Given the description of an element on the screen output the (x, y) to click on. 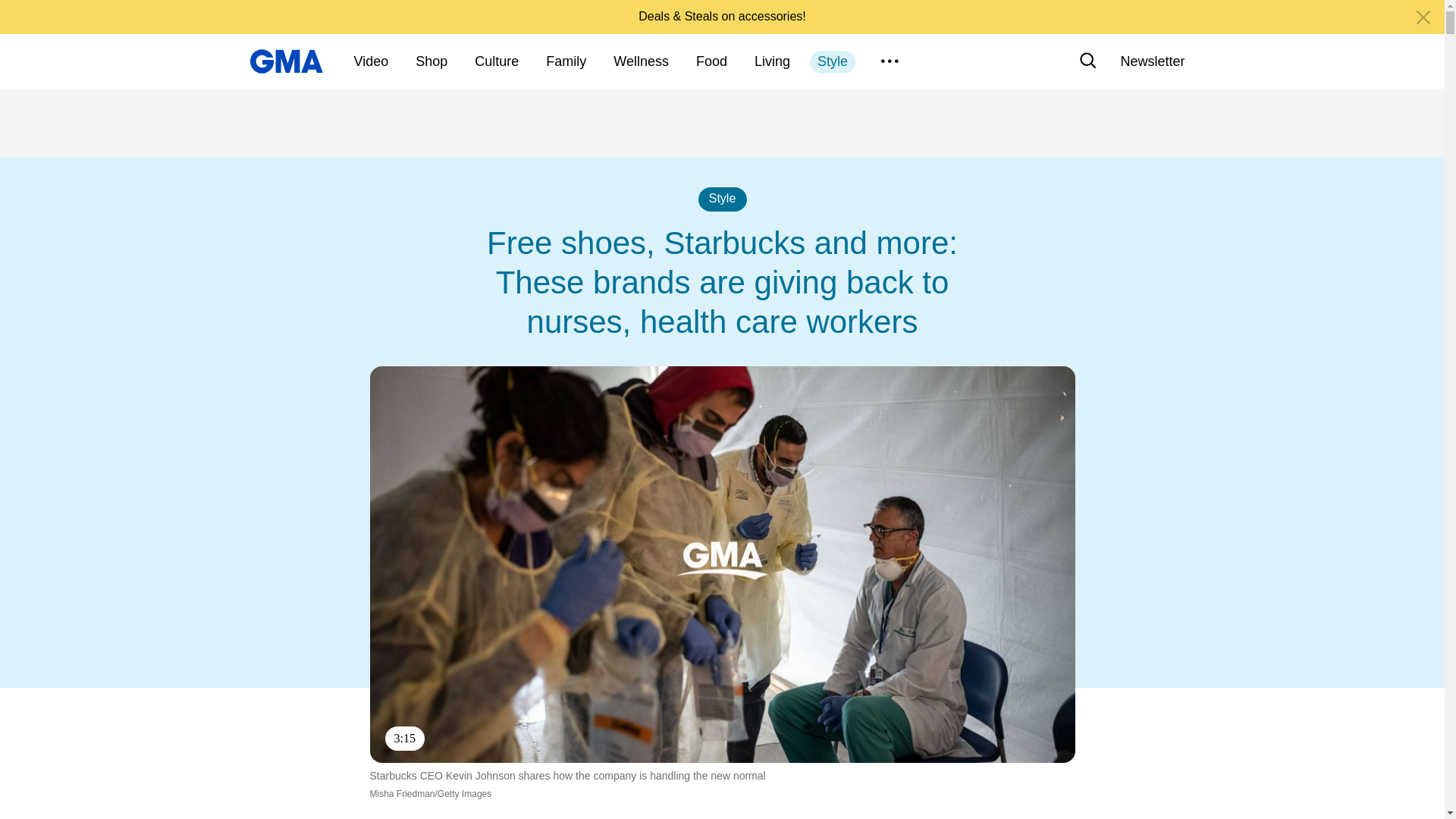
Newsletter (1152, 61)
Culture (496, 61)
Wellness (641, 61)
Shop (430, 61)
Style (832, 61)
Style (721, 199)
Search (1087, 60)
Video (371, 61)
Food (711, 61)
Living (771, 61)
